Given the description of an element on the screen output the (x, y) to click on. 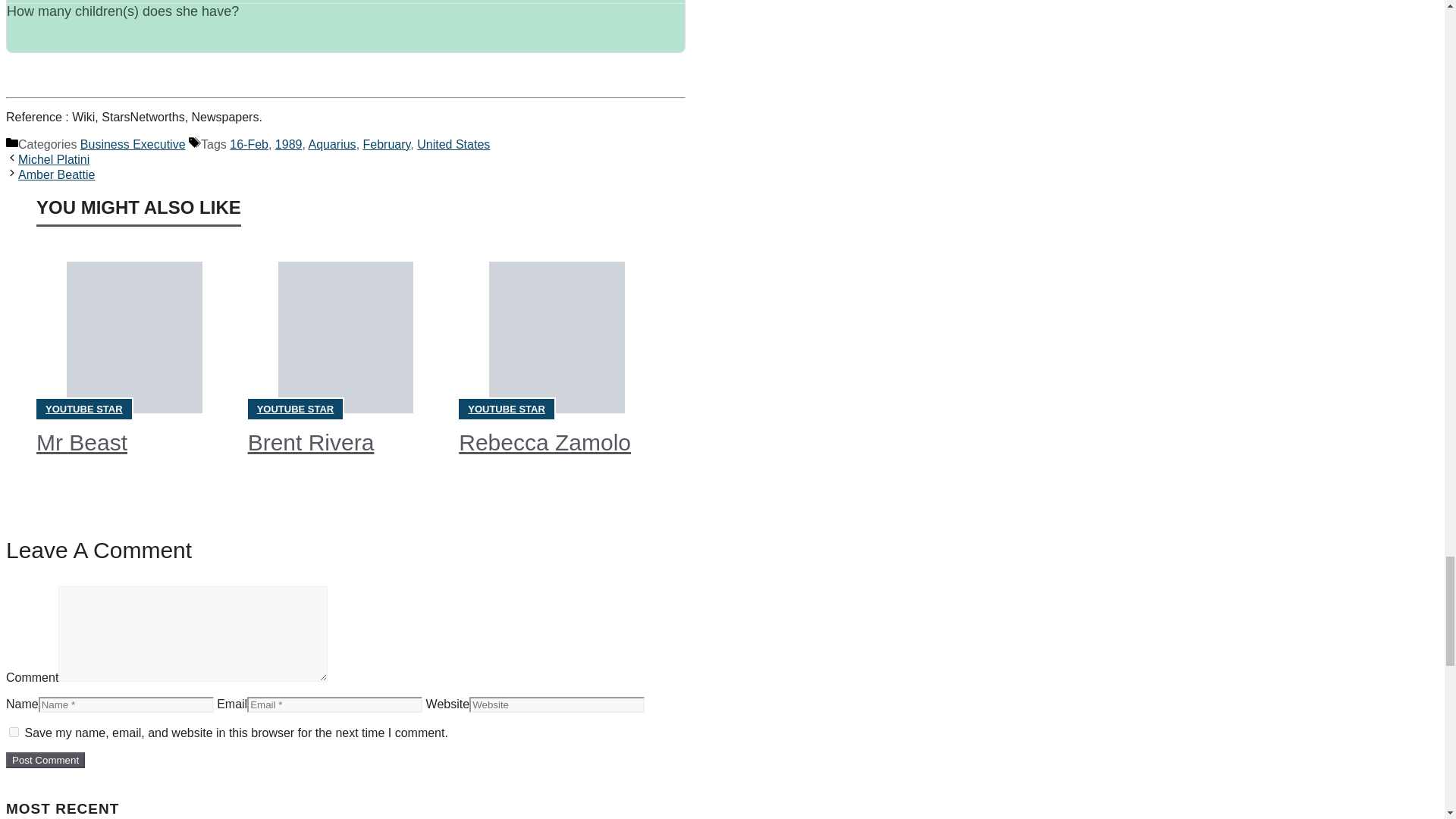
Business Executive (133, 144)
February (386, 144)
Post Comment (44, 760)
United States (452, 144)
Mr Beast (82, 442)
yes (13, 732)
YOUTUBE STAR (295, 408)
Brent Rivera (310, 442)
Amber Beattie (55, 174)
Michel Platini (52, 159)
Aquarius (331, 144)
1989 (288, 144)
Post Comment (44, 760)
YOUTUBE STAR (83, 408)
YOUTUBE STAR (505, 408)
